Given the description of an element on the screen output the (x, y) to click on. 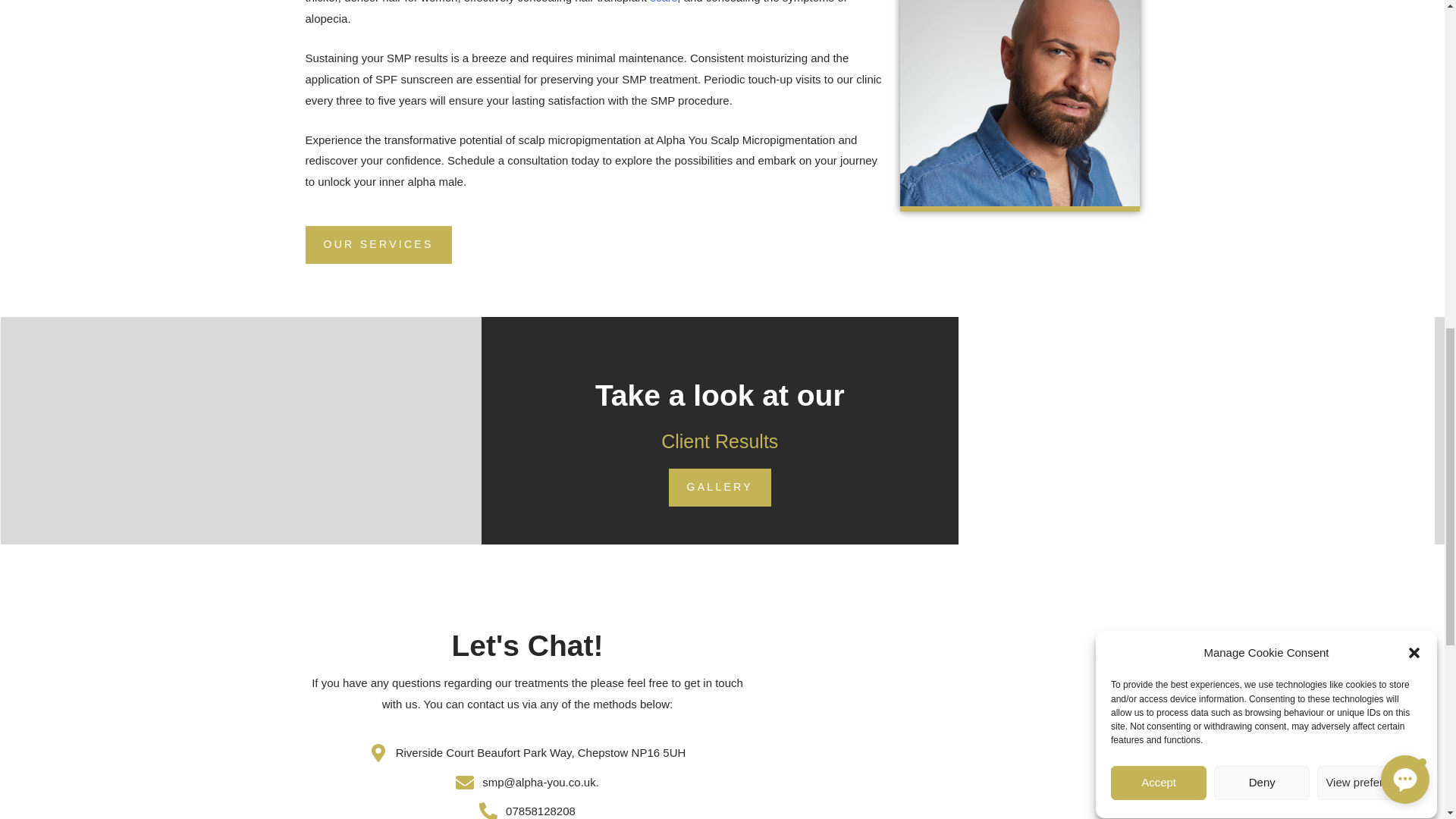
Deny (1261, 137)
scars (663, 2)
Accept (1158, 163)
View preferences (1369, 114)
Riverside Court Beaufort Park Way, Chepstow NP16 5UH (526, 752)
07858128208 (526, 809)
OUR SERVICES (377, 244)
GALLERY (719, 487)
